Given the description of an element on the screen output the (x, y) to click on. 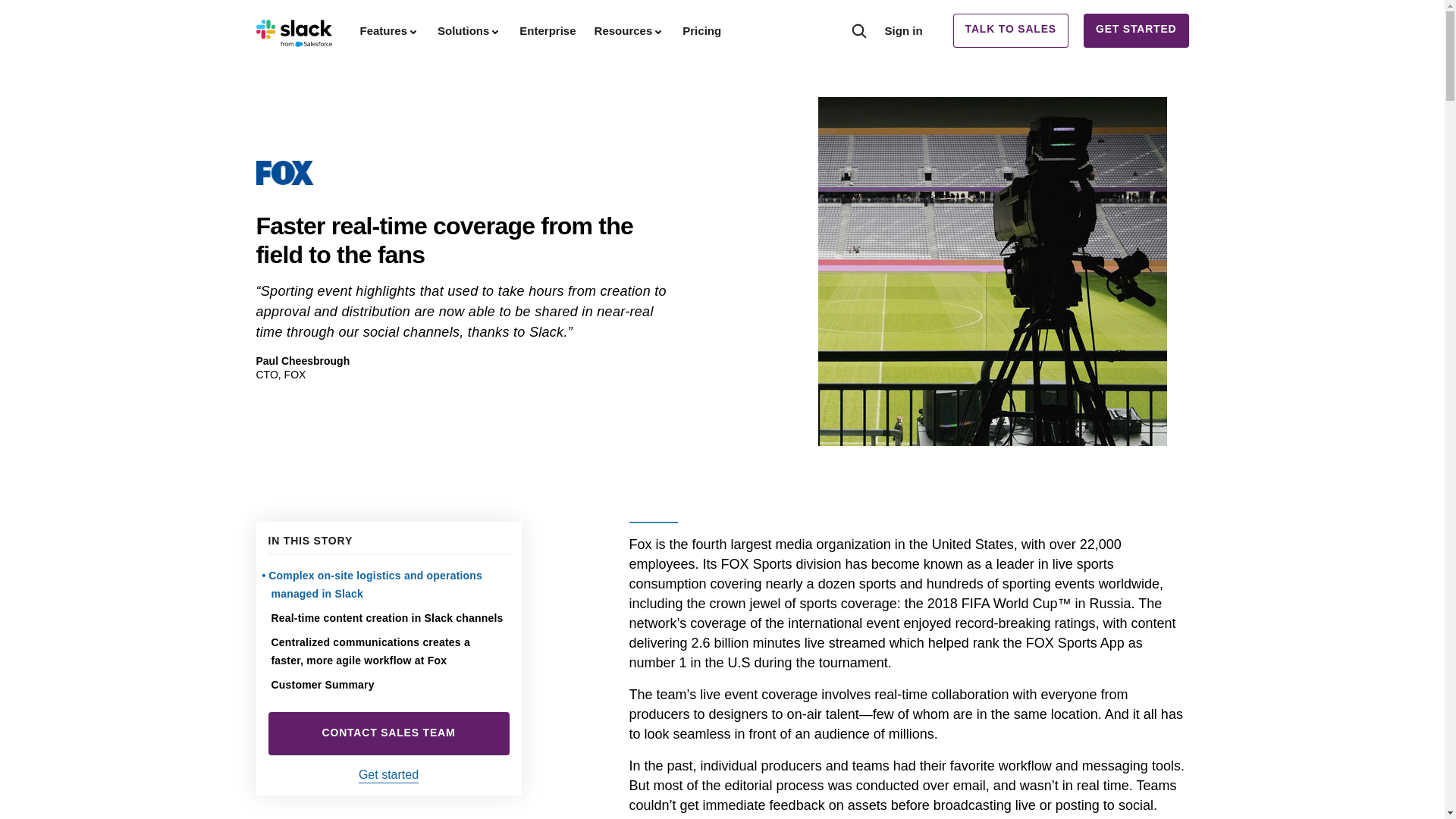
Solutions (469, 30)
Features (389, 30)
